Given the description of an element on the screen output the (x, y) to click on. 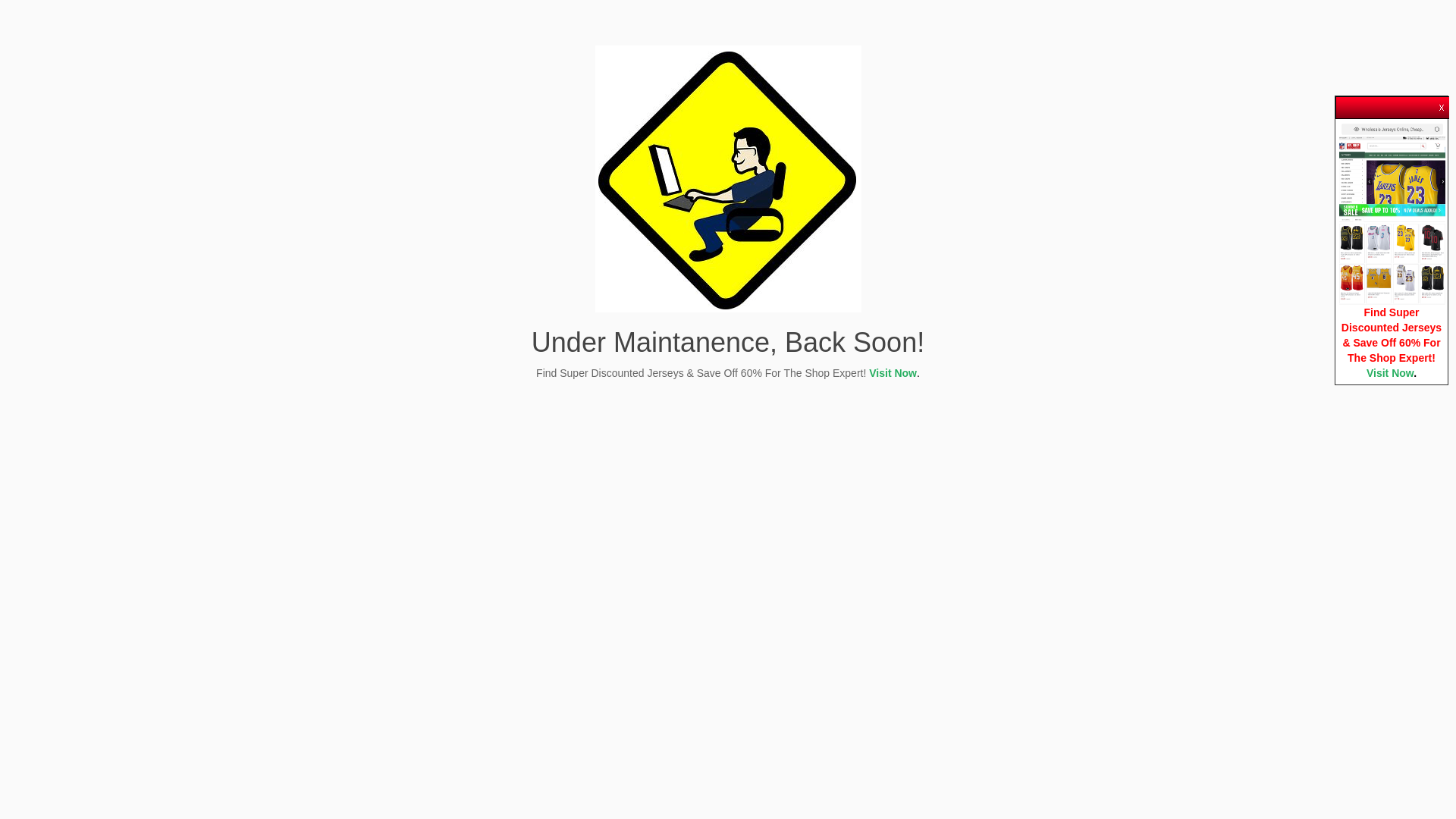
Visit Now Element type: text (1389, 373)
   Element type: text (1442, 103)
Click Now Element type: hover (1392, 213)
Visit Now Element type: text (892, 373)
Close Element type: hover (1442, 103)
